Given the description of an element on the screen output the (x, y) to click on. 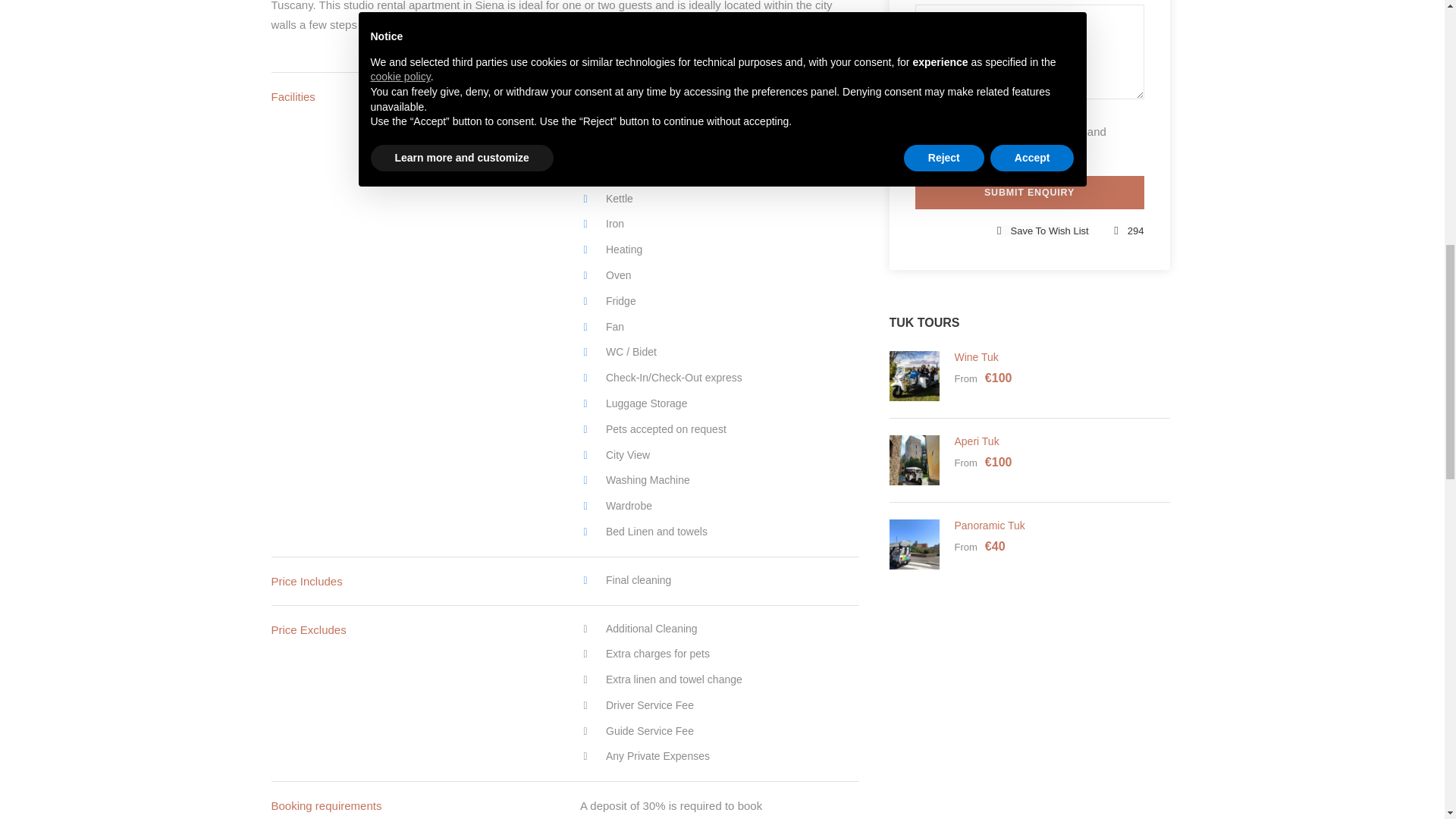
on (922, 132)
Terms of Service (1041, 131)
Wine Tuk (975, 357)
Privacy Statement (960, 150)
Submit Enquiry (1028, 192)
Submit Enquiry (1028, 192)
Panoramic Tuk (989, 525)
Aperi Tuk (975, 440)
